Given the description of an element on the screen output the (x, y) to click on. 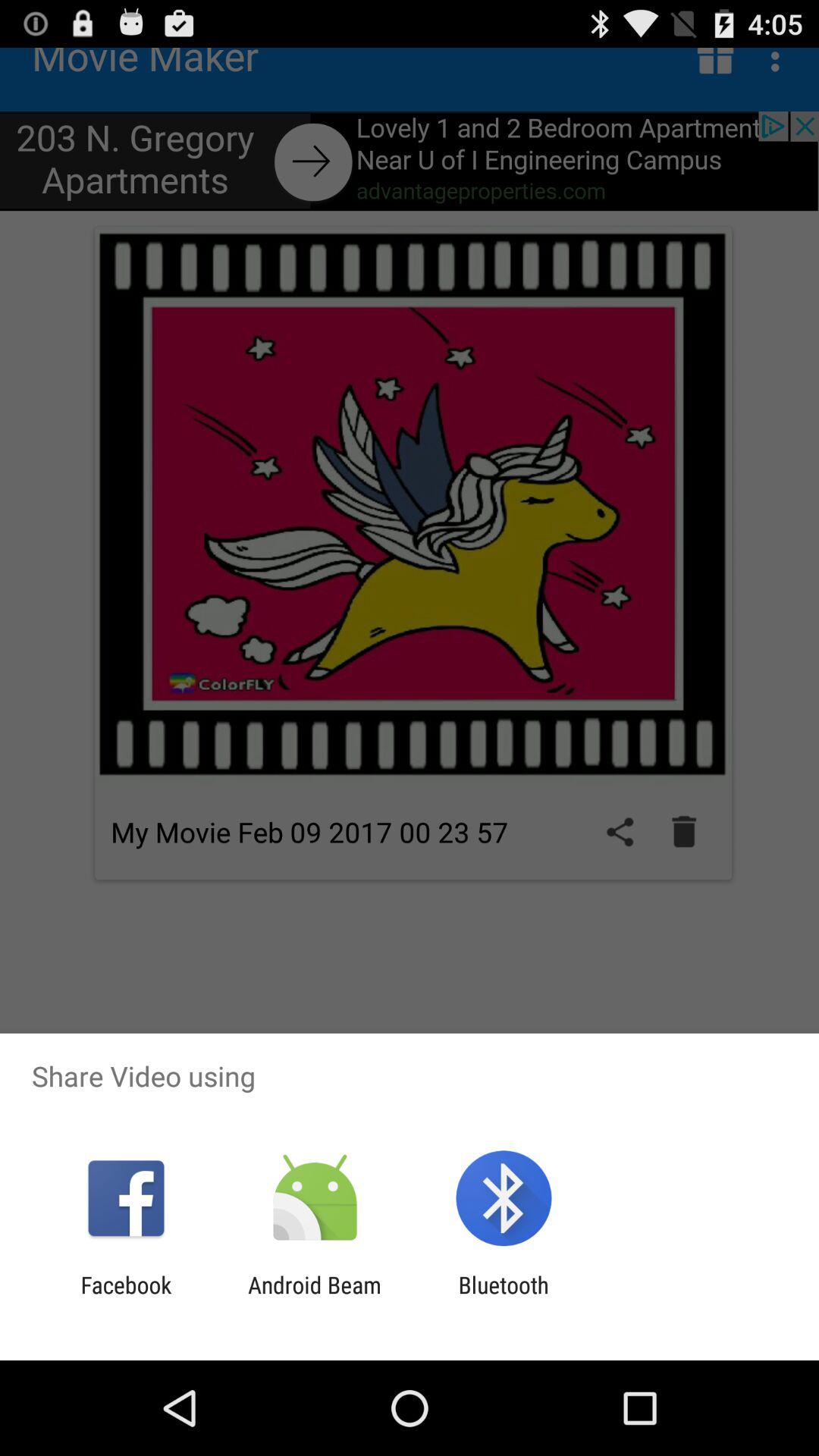
choose app to the right of android beam item (503, 1298)
